Given the description of an element on the screen output the (x, y) to click on. 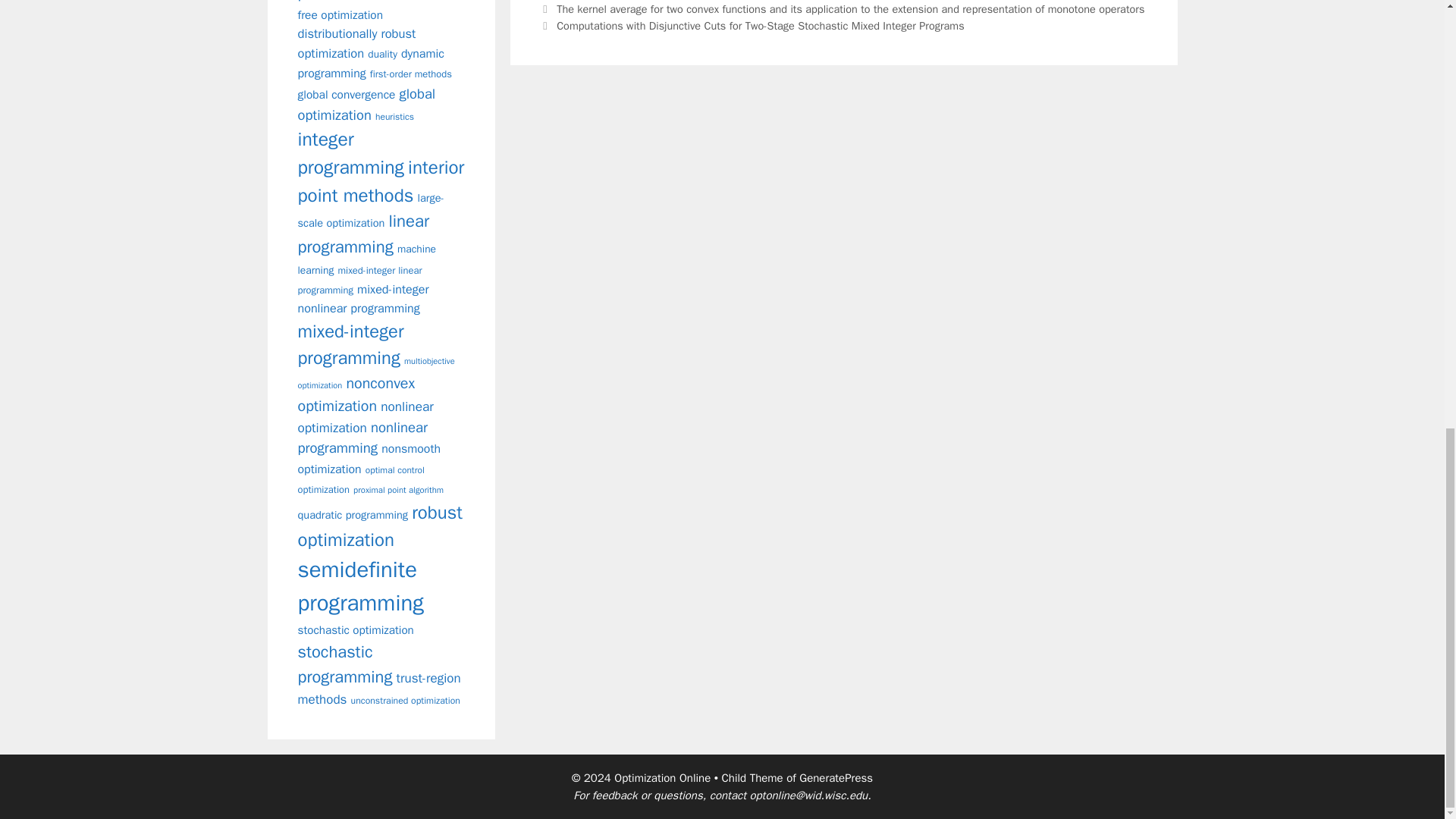
cutting planes (372, 1)
decomposition (375, 0)
Next (751, 25)
Previous (842, 8)
